Given the description of an element on the screen output the (x, y) to click on. 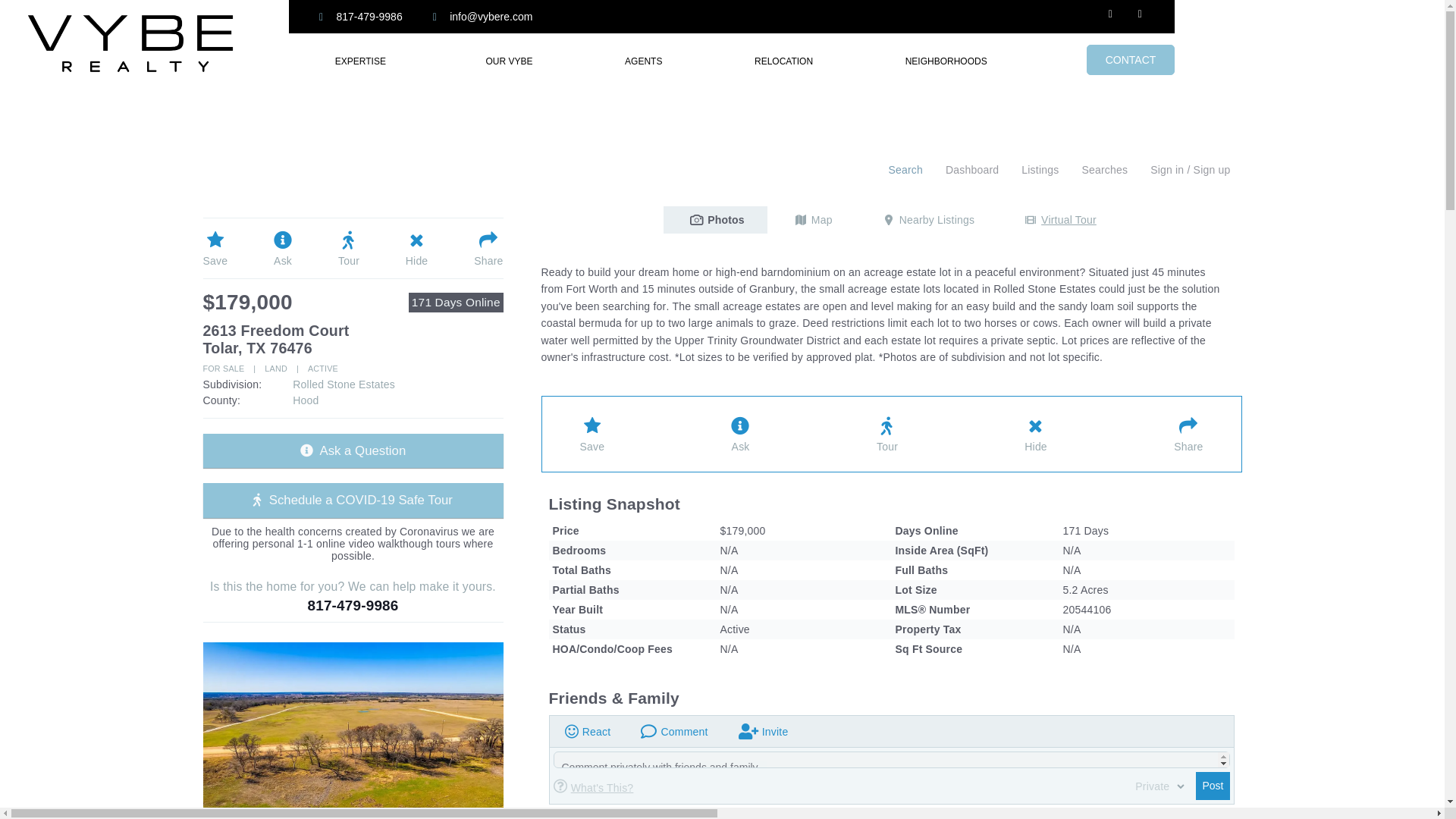
Dashboard (972, 170)
Listings (1040, 170)
OUR VYBE (509, 61)
Ask a Question (353, 450)
Post (1211, 786)
EXPERTISE (363, 61)
AGENTS (642, 61)
Search (905, 170)
Searches (1104, 170)
RELOCATION (783, 61)
